Given the description of an element on the screen output the (x, y) to click on. 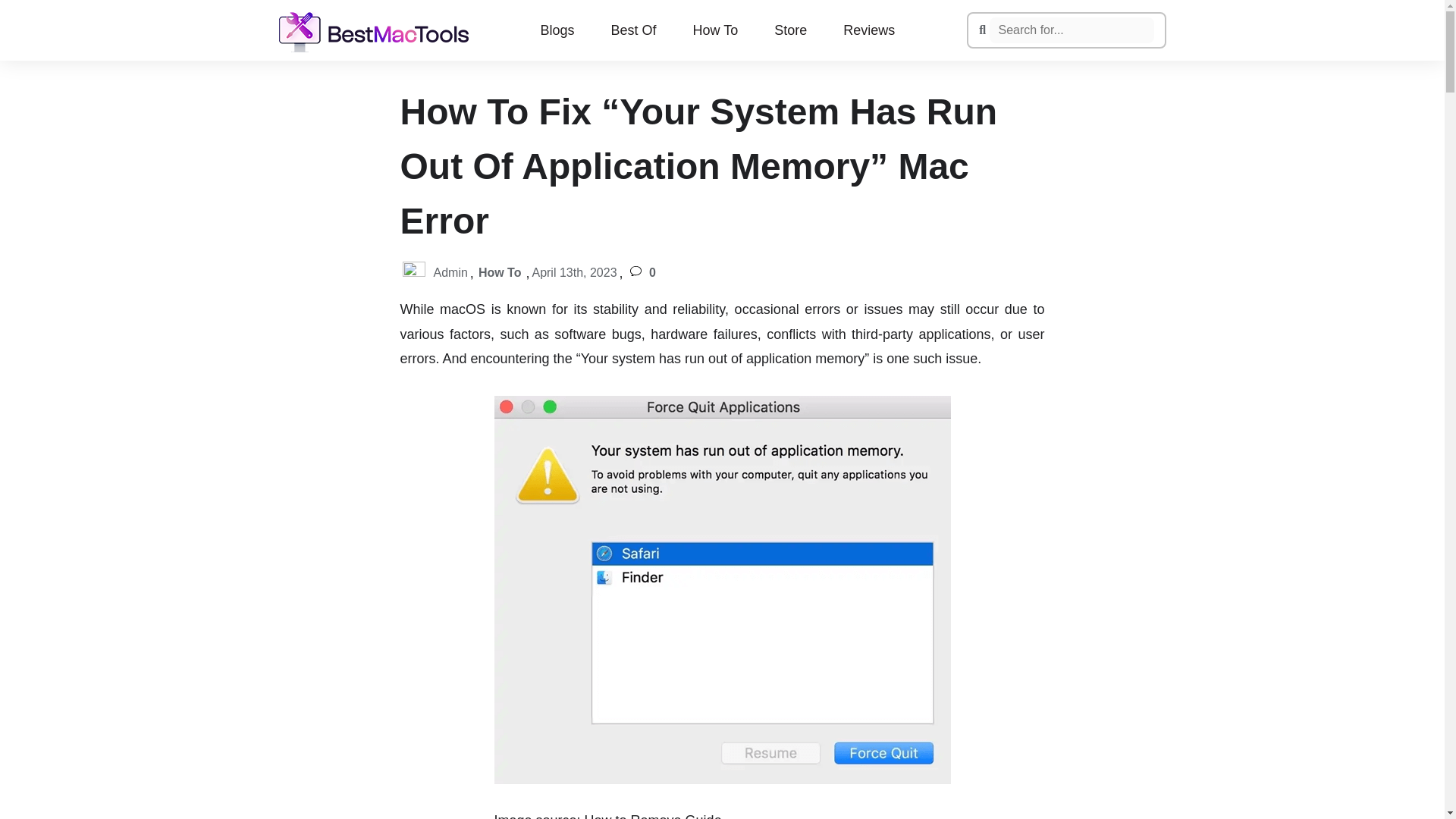
Reviews (869, 30)
How To (714, 30)
Best Of (633, 30)
How To (500, 273)
0 (641, 273)
